Given the description of an element on the screen output the (x, y) to click on. 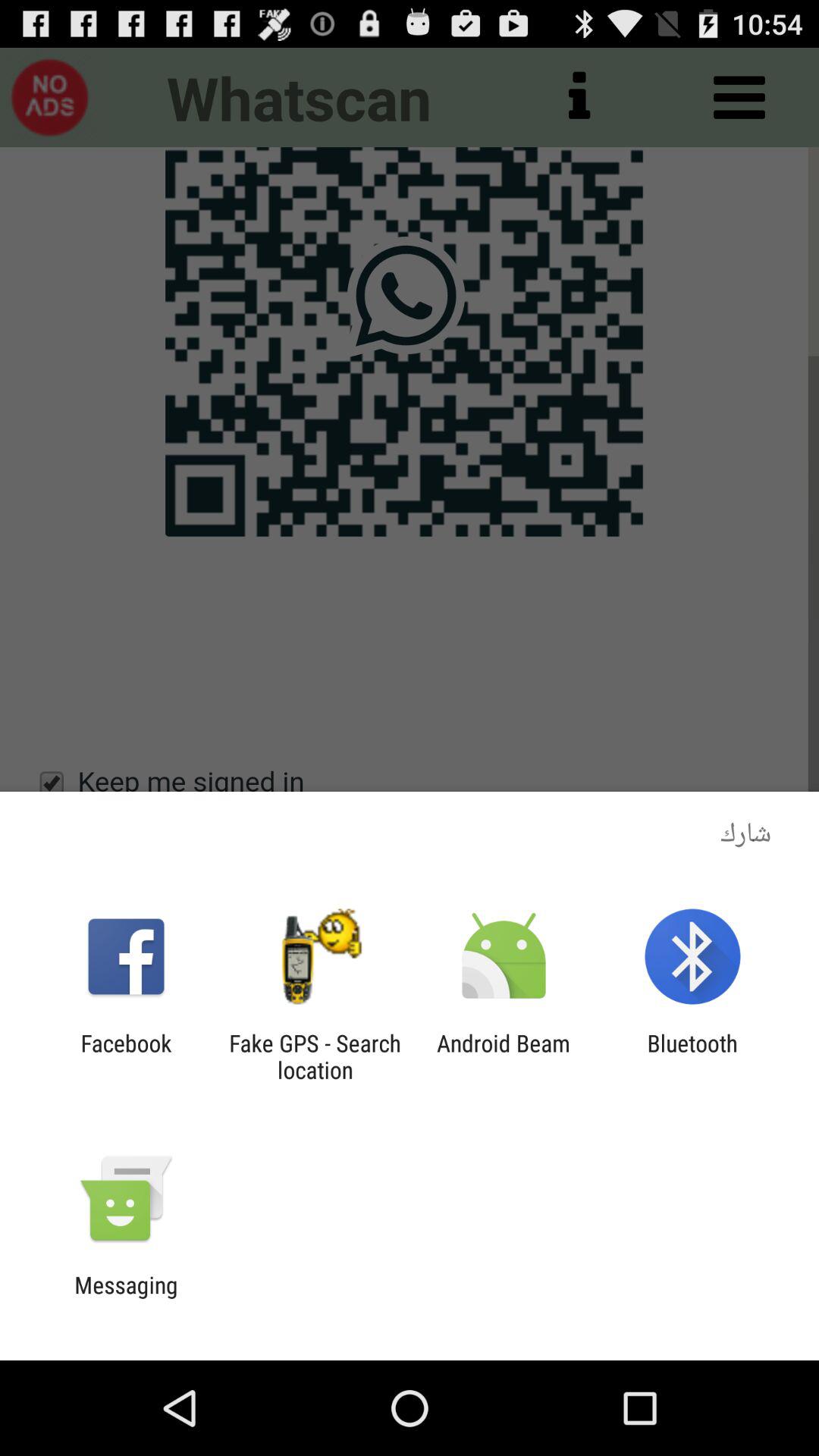
press item to the right of the facebook app (314, 1056)
